Given the description of an element on the screen output the (x, y) to click on. 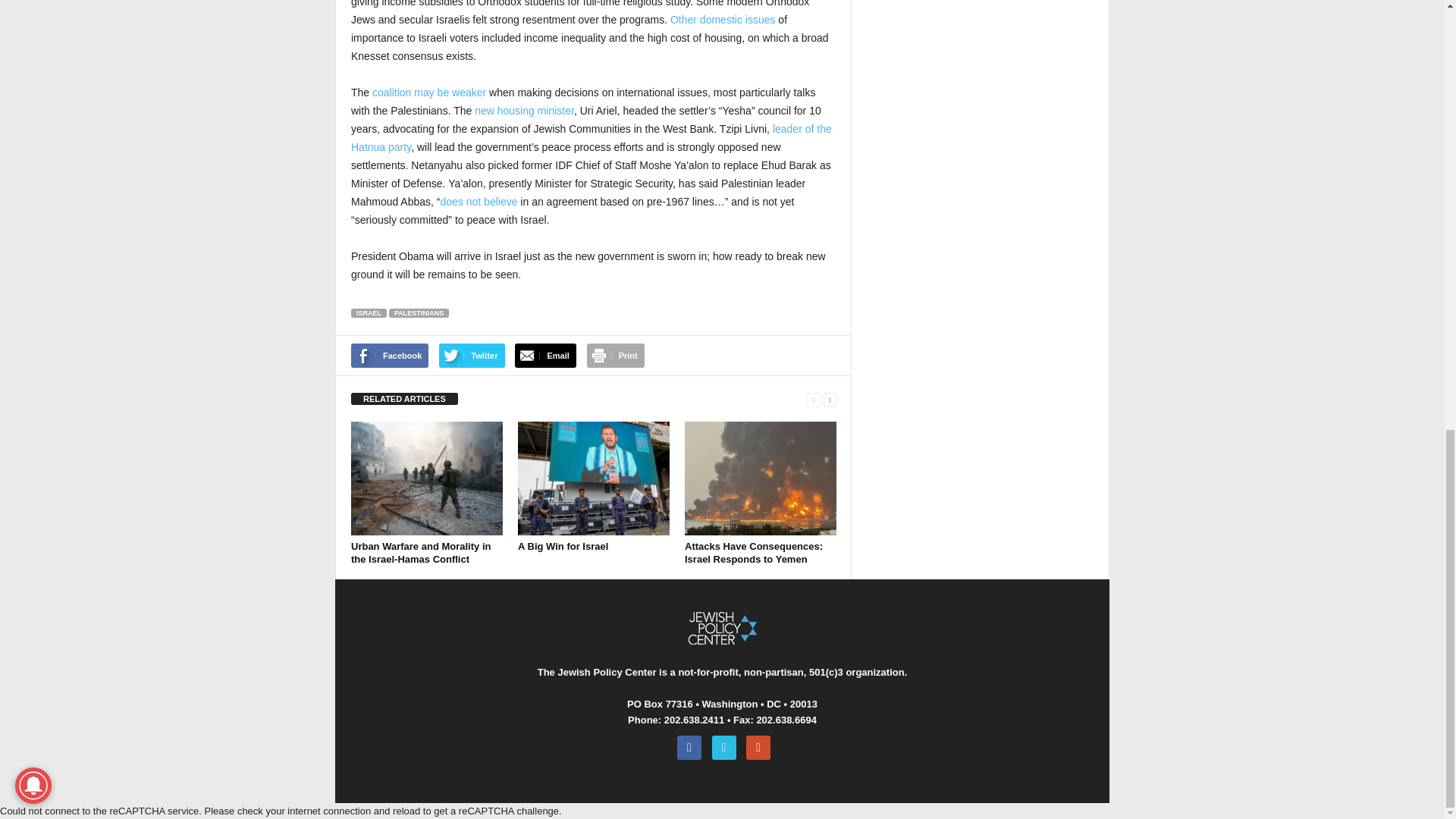
Urban Warfare and Morality in the Israel-Hamas Conflict (420, 552)
Urban Warfare and Morality in the Israel-Hamas Conflict (426, 478)
A Big Win for Israel (593, 478)
